Given the description of an element on the screen output the (x, y) to click on. 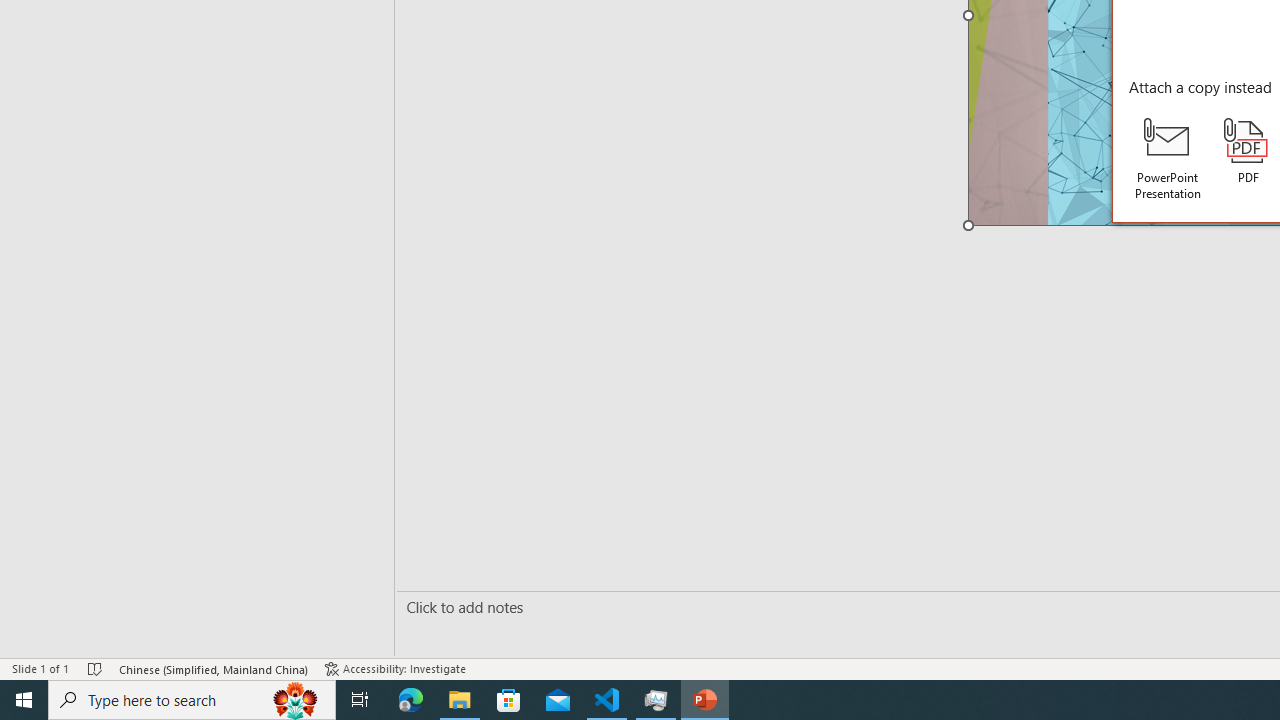
Microsoft Edge (411, 699)
PowerPoint Presentation (1167, 159)
PDF (1247, 151)
File Explorer - 1 running window (460, 699)
Task Manager - 1 running window (656, 699)
